Given the description of an element on the screen output the (x, y) to click on. 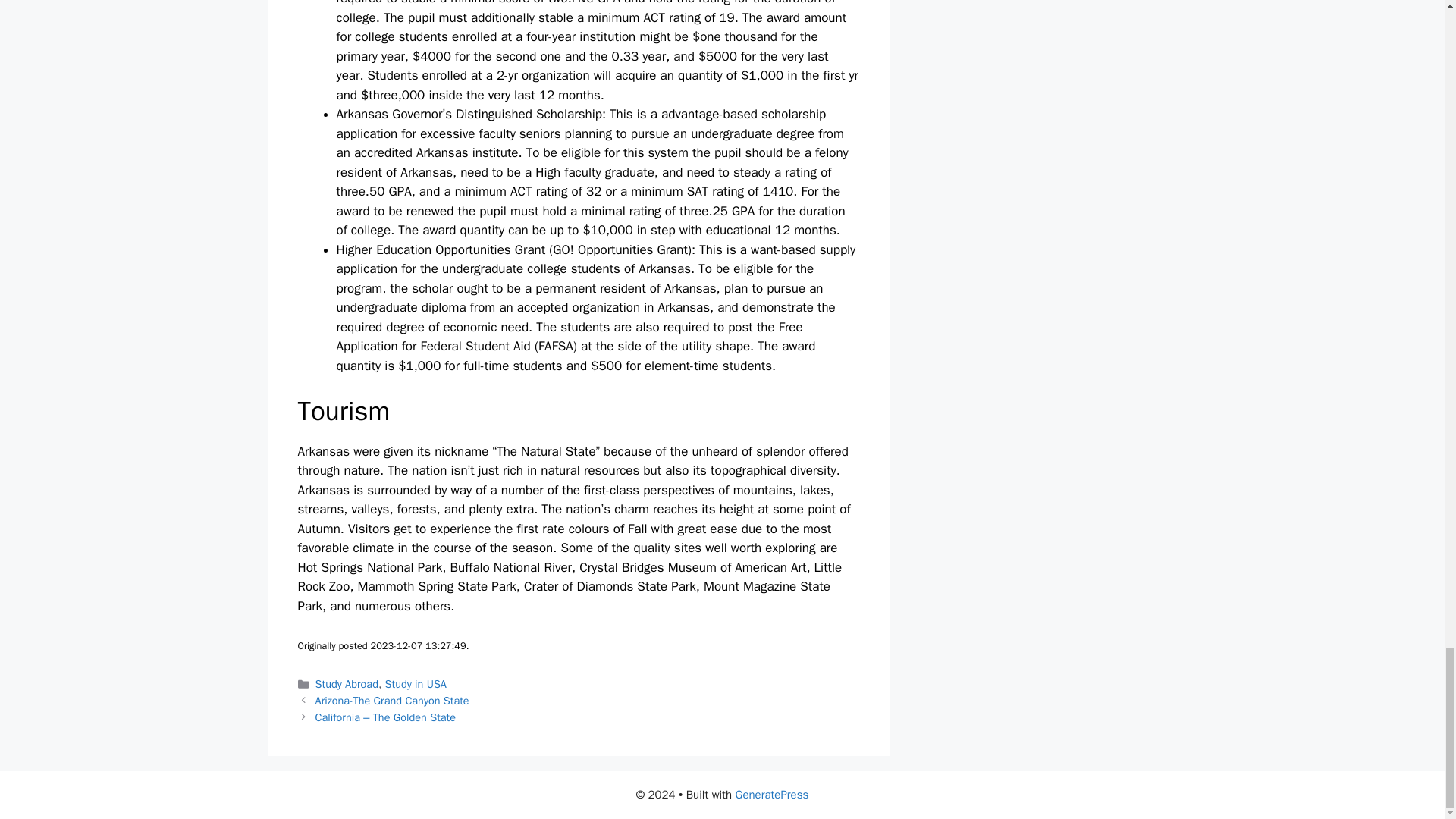
Study in USA (415, 684)
Study Abroad (346, 684)
Arizona-The Grand Canyon State (391, 700)
